Given the description of an element on the screen output the (x, y) to click on. 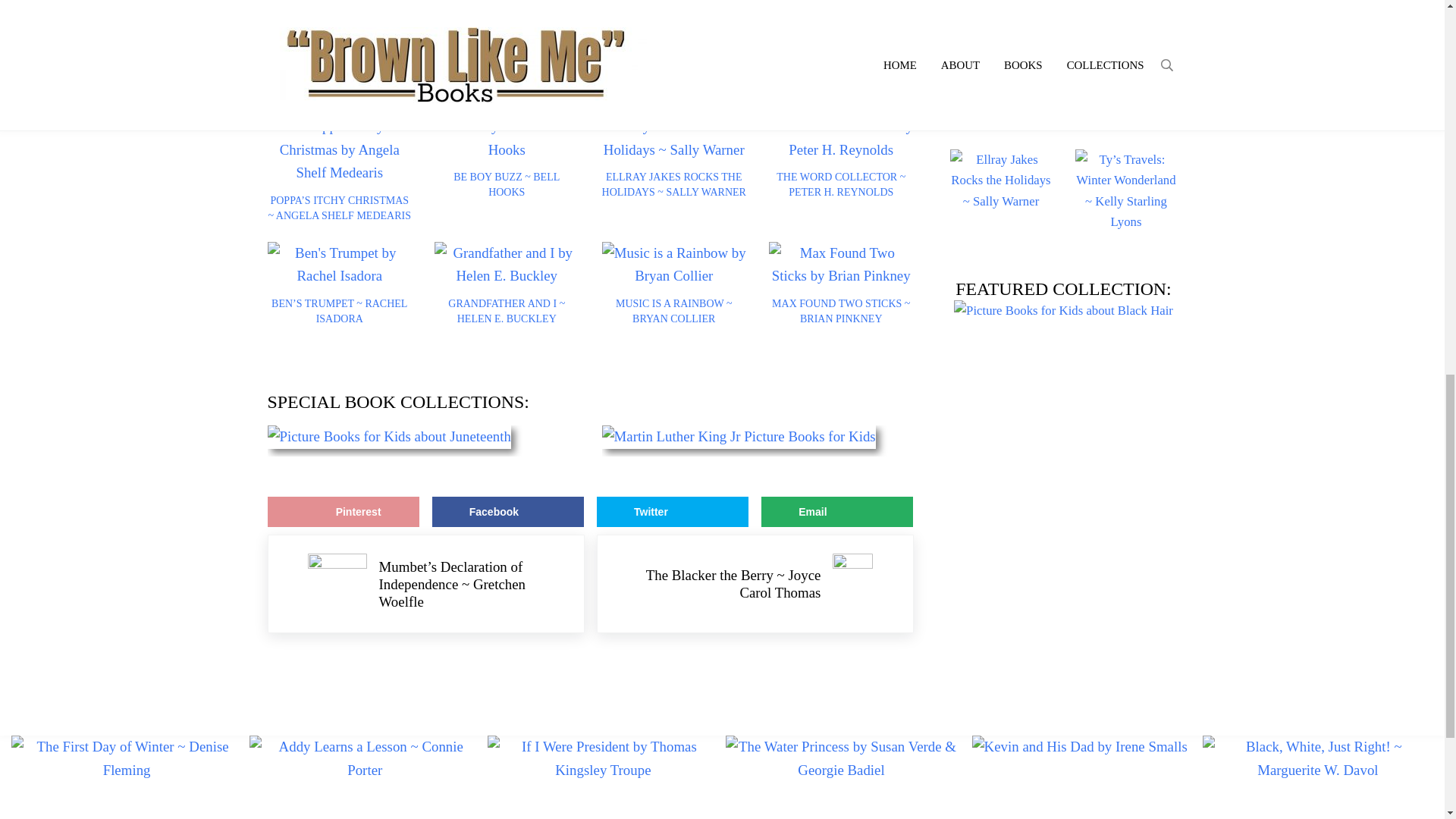
Share on Twitter (672, 511)
Send over email (836, 511)
Share on Facebook (507, 511)
Buy the Book: Max Goes to the Dentist (387, 17)
Save to Pinterest (342, 511)
